Given the description of an element on the screen output the (x, y) to click on. 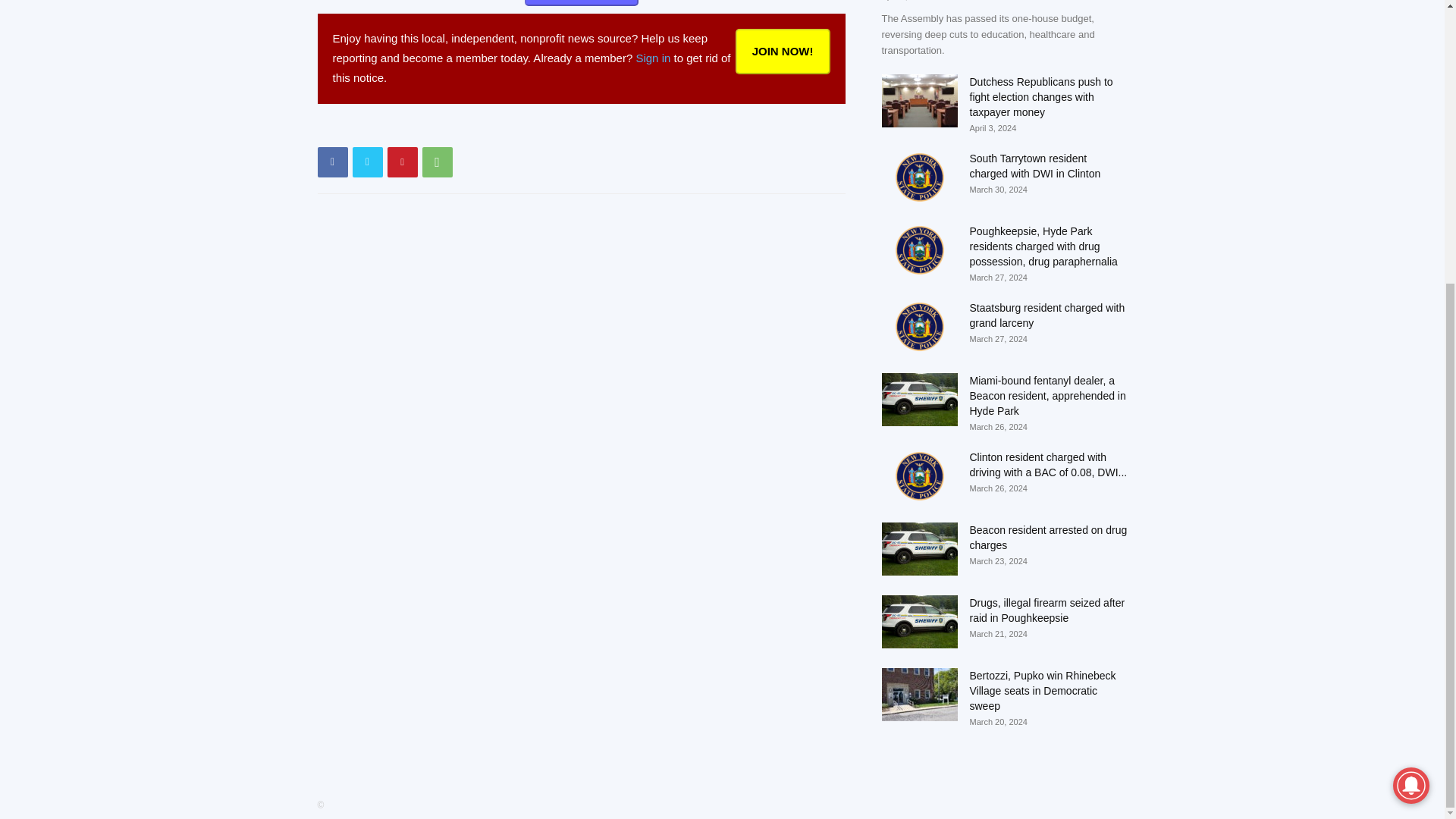
bottomFacebookLike (430, 128)
Twitter (366, 162)
Facebook (332, 162)
Pinterest (401, 162)
